Given the description of an element on the screen output the (x, y) to click on. 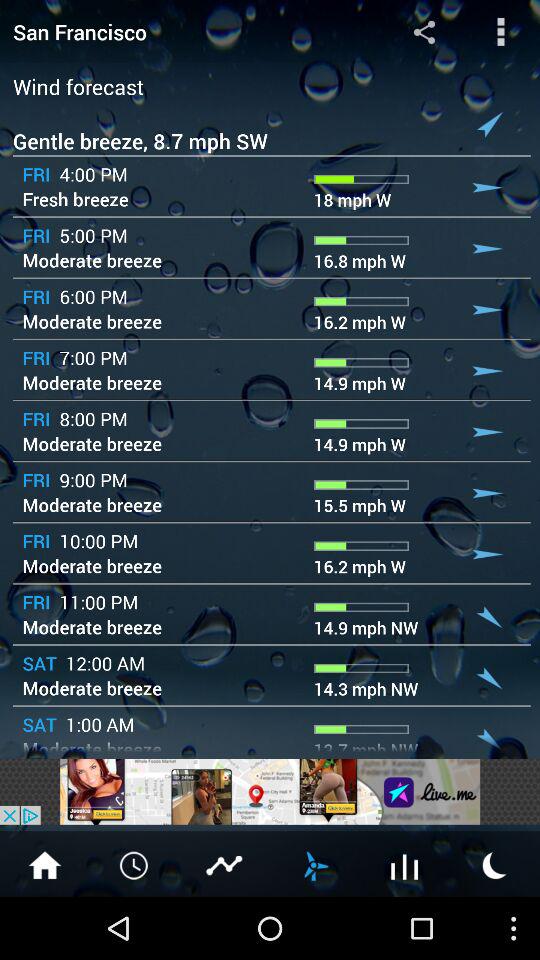
go home (45, 864)
